Given the description of an element on the screen output the (x, y) to click on. 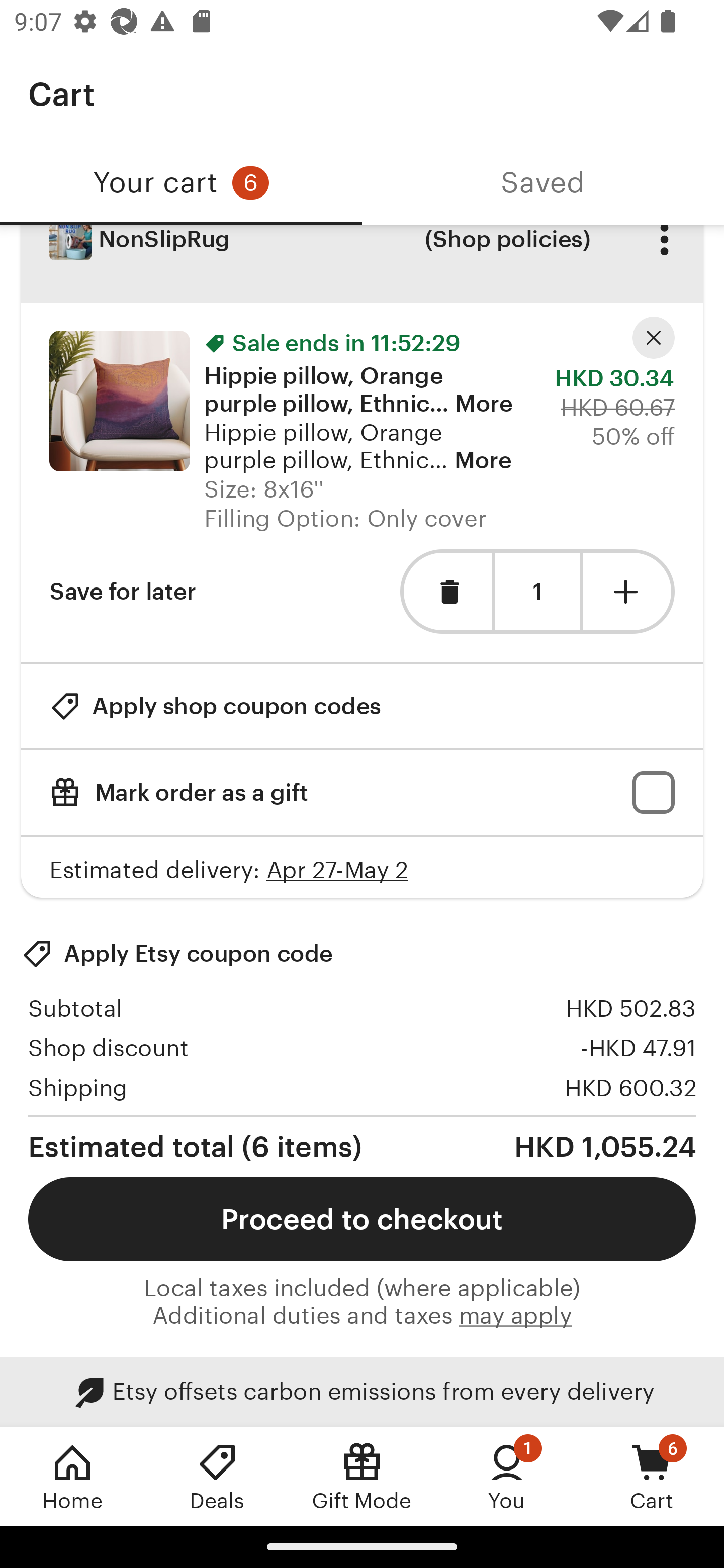
Saved, tab 2 of 2 Saved (543, 183)
NonSlipRug (Shop policies) More options (361, 263)
(Shop policies) (507, 252)
More options (663, 252)
Save for later (122, 590)
Remove item from cart (445, 590)
Add one unit to cart (628, 590)
1 (537, 591)
Apply shop coupon codes (215, 705)
Mark order as a gift (361, 792)
Apply Etsy coupon code (177, 953)
Proceed to checkout (361, 1218)
Home (72, 1475)
Deals (216, 1475)
Gift Mode (361, 1475)
You, 1 new notification You (506, 1475)
